Given the description of an element on the screen output the (x, y) to click on. 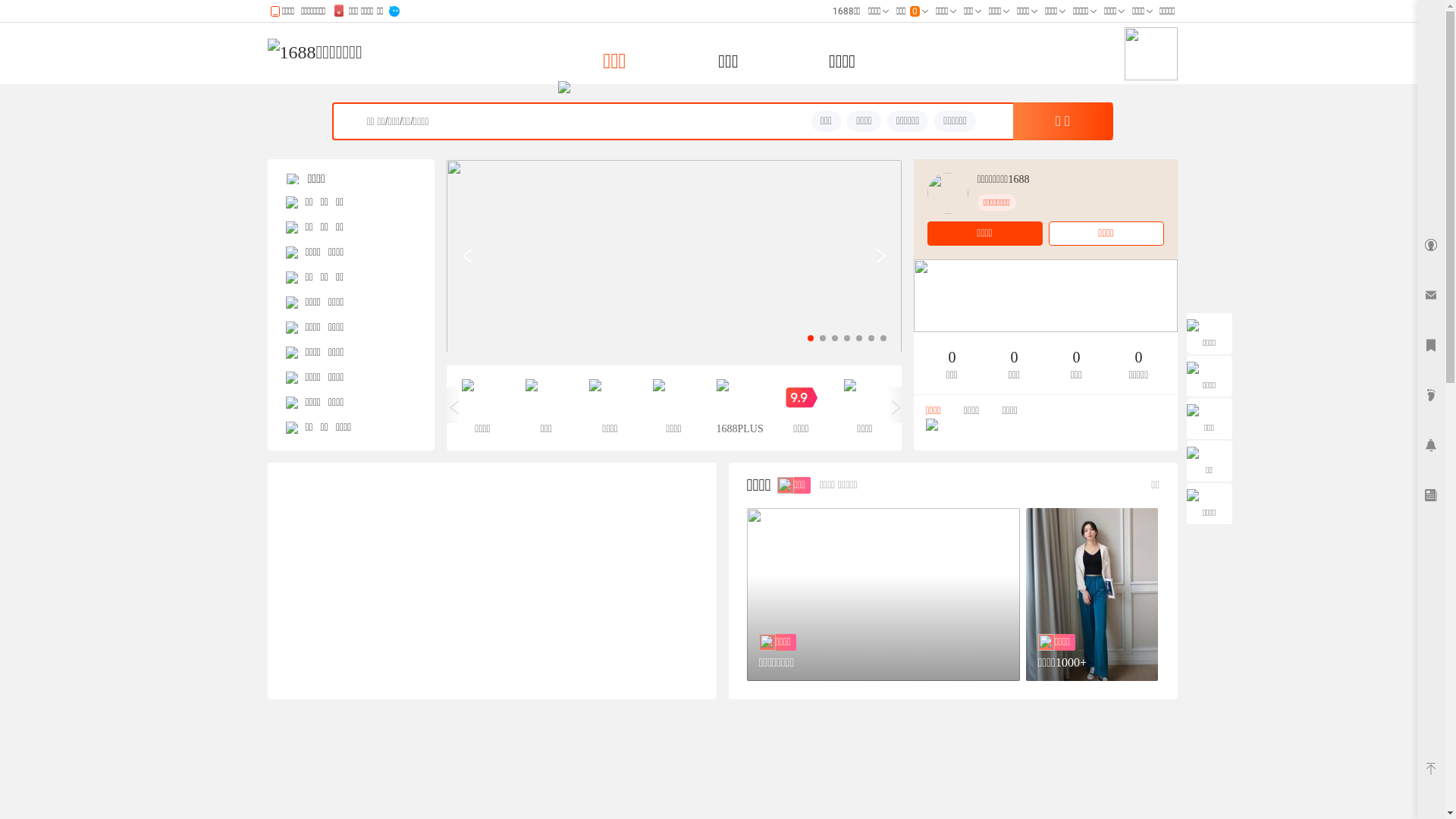
1688PLUS Element type: text (736, 407)
